Given the description of an element on the screen output the (x, y) to click on. 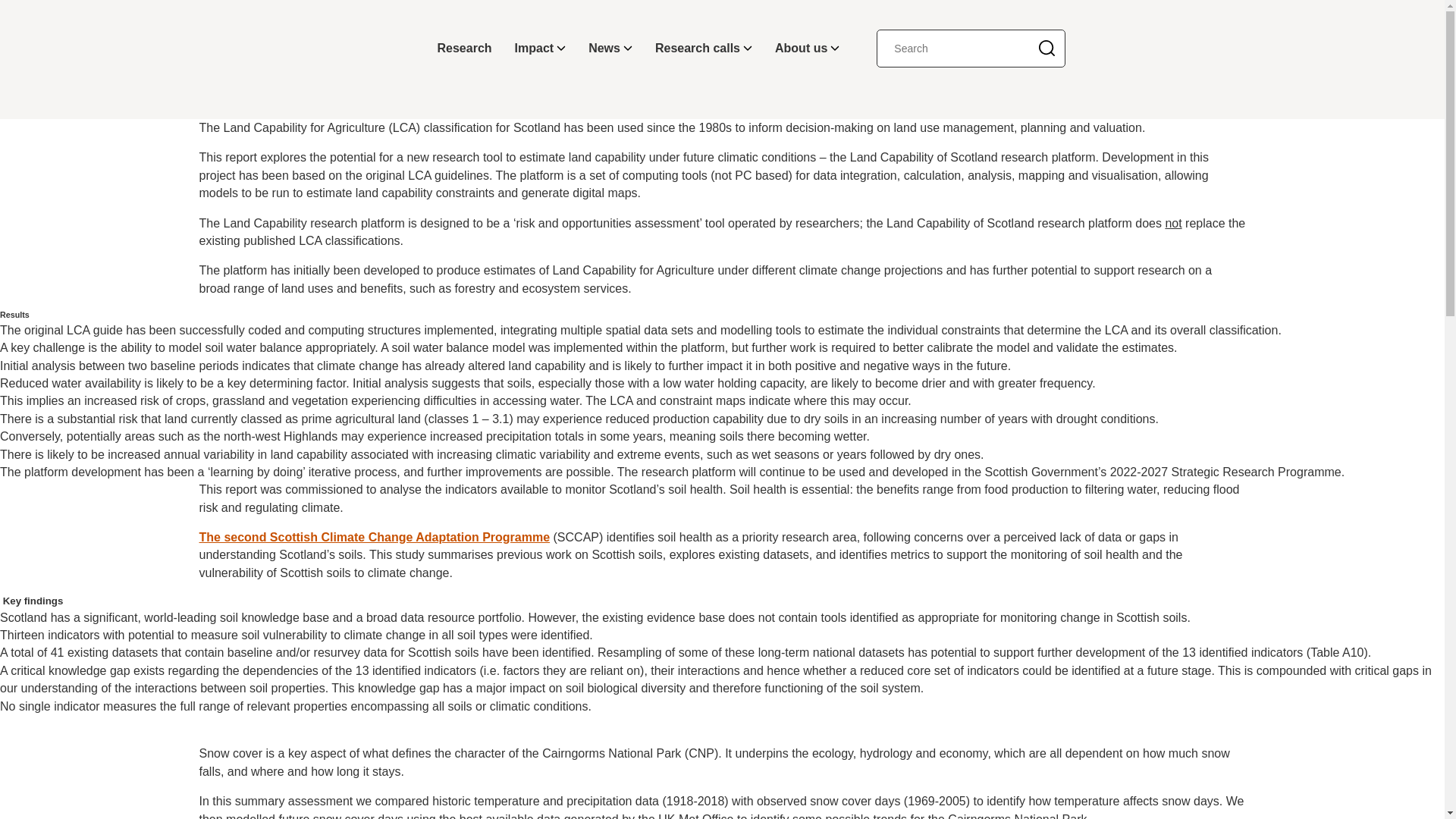
Impact (540, 48)
News (609, 48)
Research (464, 48)
The second Scottish Climate Change Adaptation Programme (374, 536)
Research calls (702, 48)
About us (806, 48)
